Given the description of an element on the screen output the (x, y) to click on. 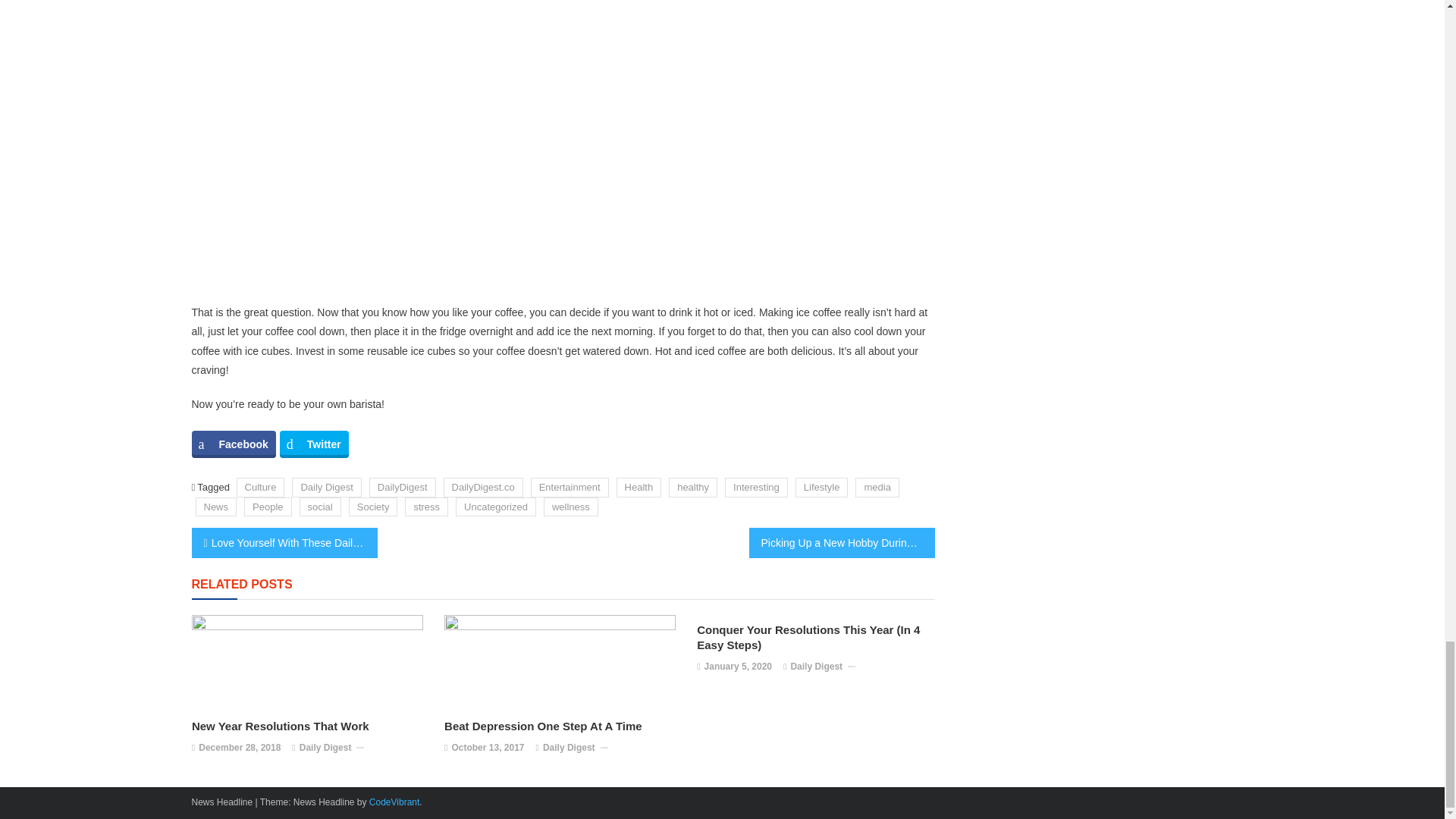
Interesting (756, 486)
DailyDigest (402, 486)
Facebook (232, 443)
Health (638, 486)
Culture (260, 486)
DailyDigest.co (483, 486)
Daily Digest (326, 486)
Twitter (314, 443)
healthy (692, 486)
Entertainment (569, 486)
Lifestyle (821, 486)
